Given the description of an element on the screen output the (x, y) to click on. 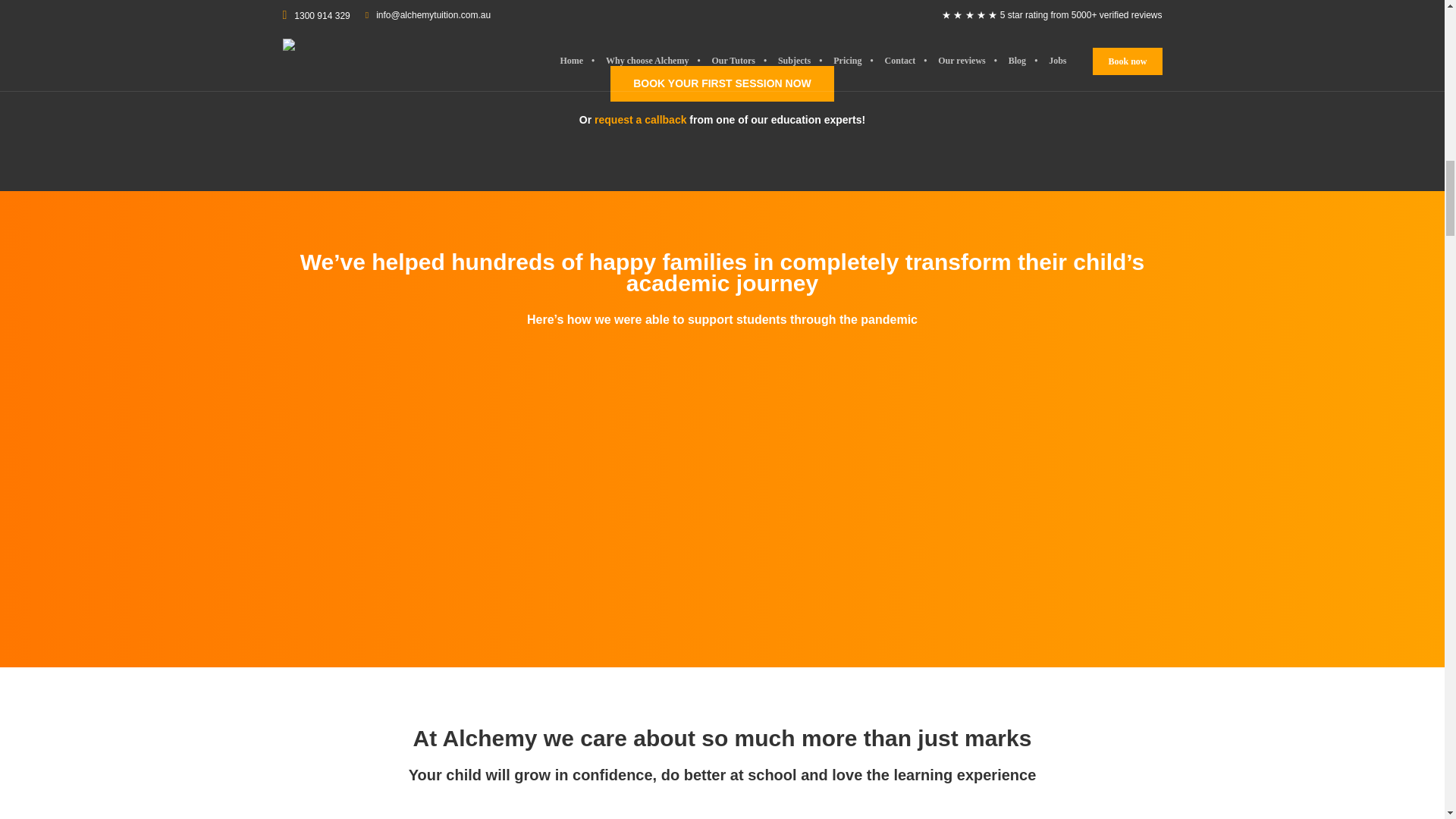
Get started (722, 83)
